Given the description of an element on the screen output the (x, y) to click on. 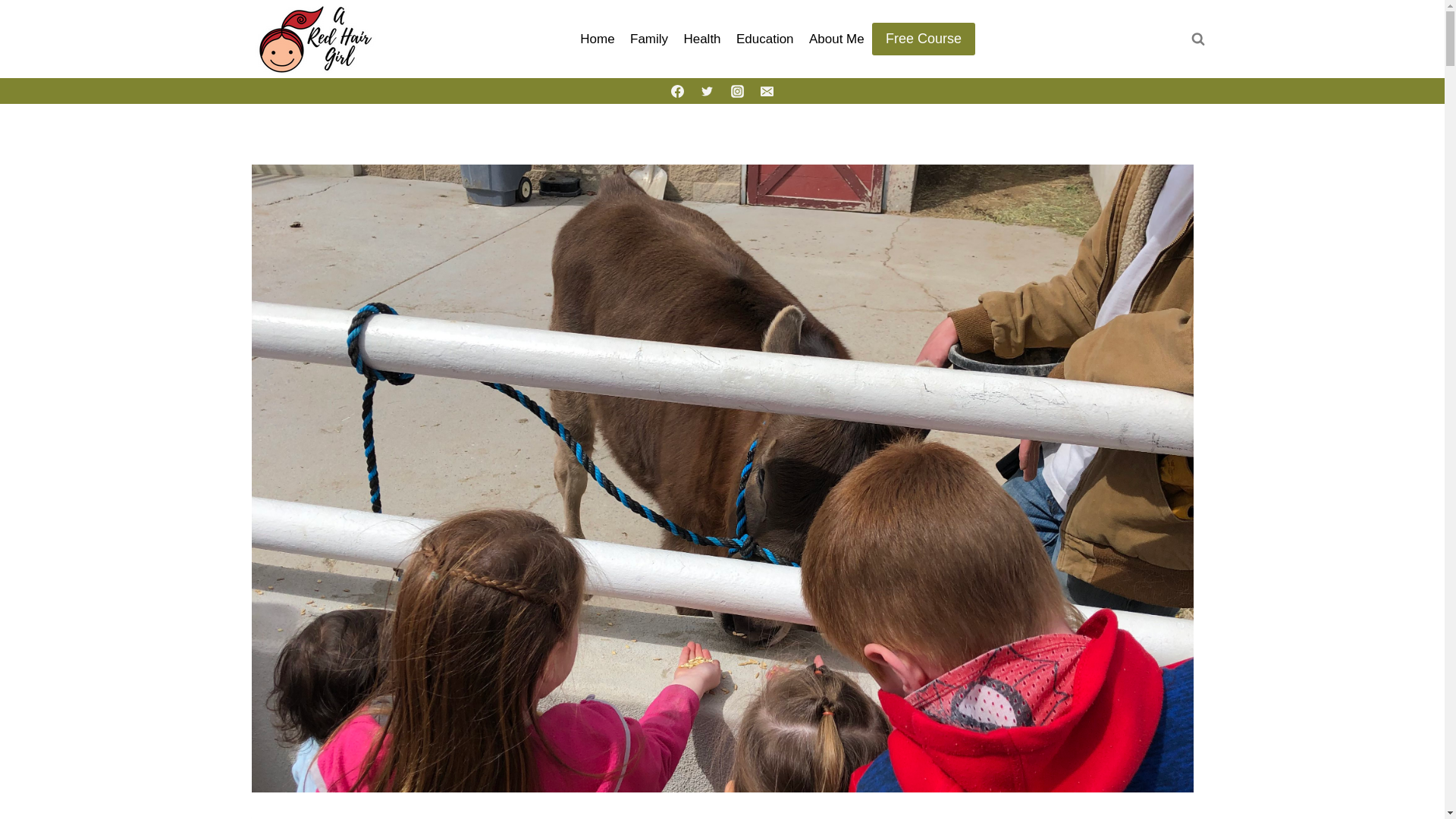
About Me (837, 39)
Home (597, 39)
Free Course (923, 38)
Health (702, 39)
Family (649, 39)
Education (765, 39)
